Given the description of an element on the screen output the (x, y) to click on. 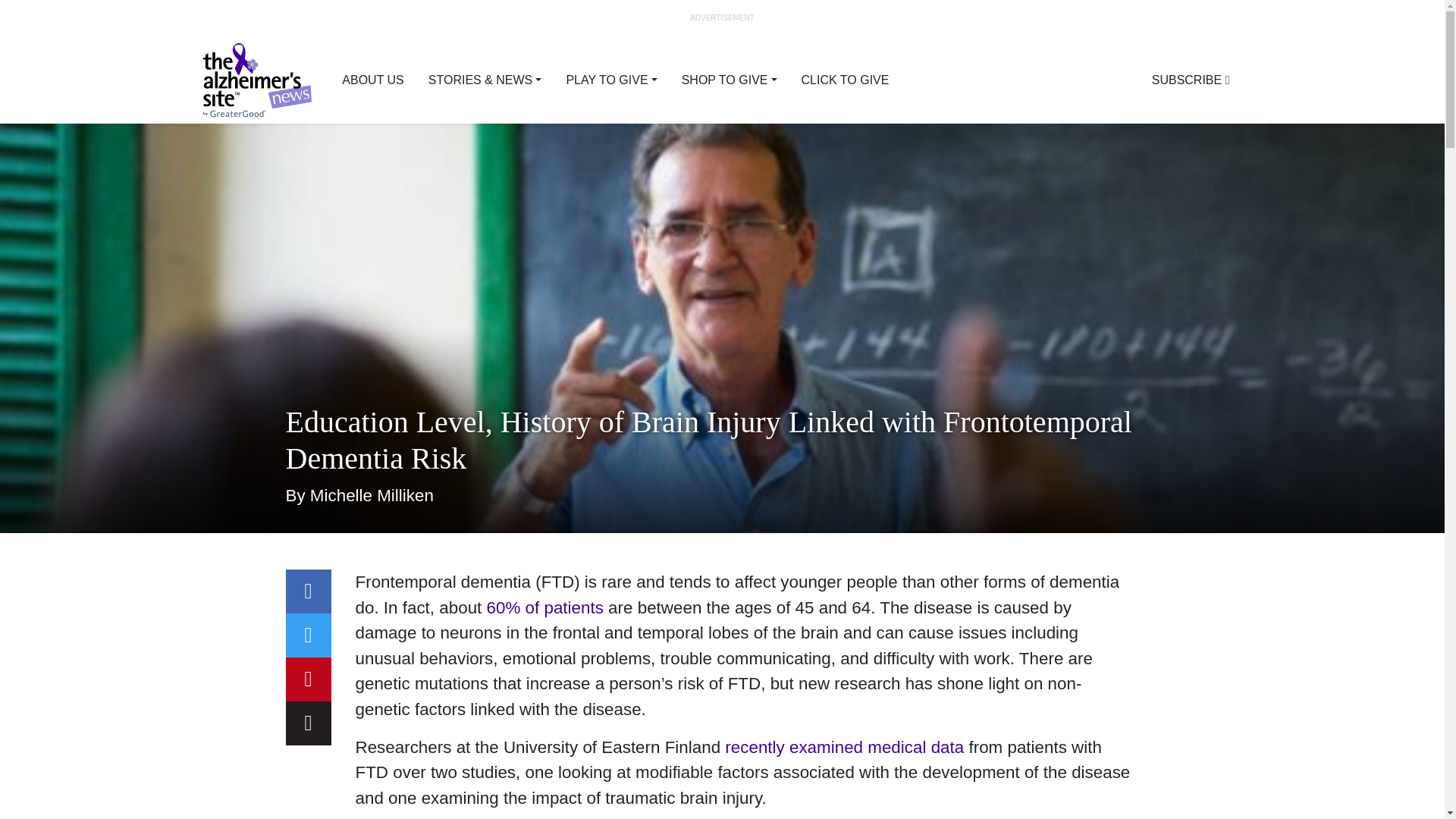
SUBSCRIBE (1190, 80)
SHOP TO GIVE (729, 80)
CLICK TO GIVE (845, 80)
PLAY TO GIVE (610, 80)
ABOUT US (373, 80)
Michelle Milliken (371, 495)
